Given the description of an element on the screen output the (x, y) to click on. 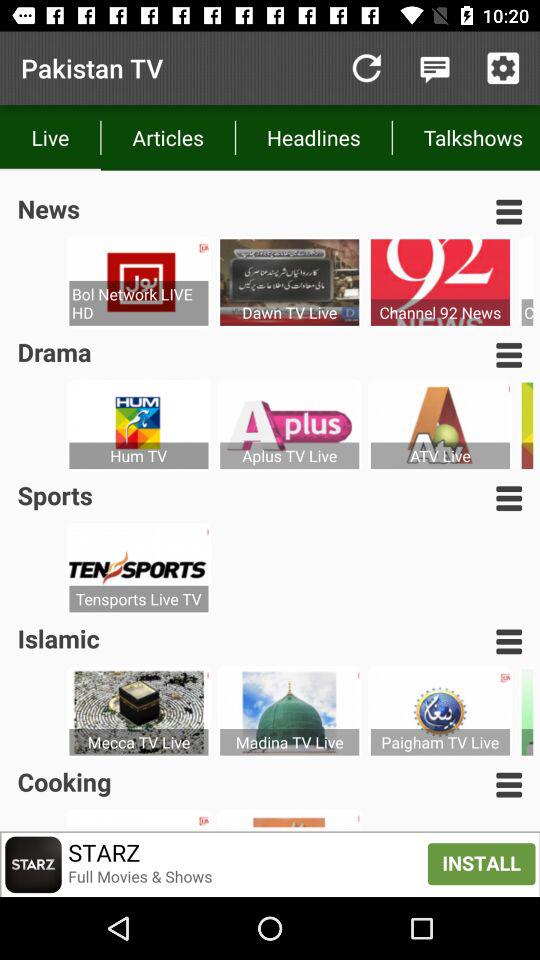
press item to the right of the articles icon (366, 67)
